Given the description of an element on the screen output the (x, y) to click on. 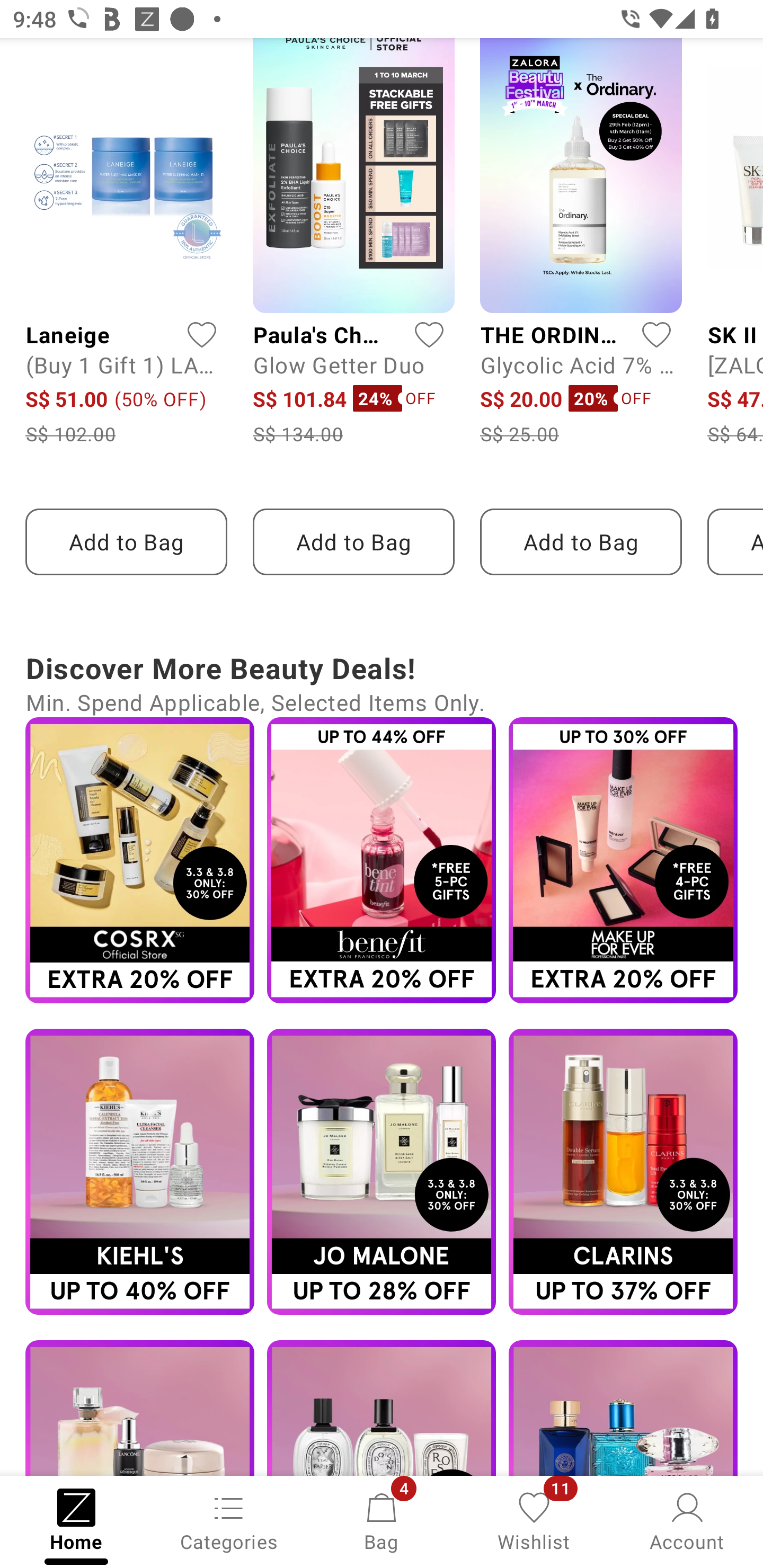
Add to Bag (126, 541)
Add to Bag (353, 541)
Add to Bag (580, 541)
Campaign banner (139, 859)
Campaign banner (381, 859)
Campaign banner (622, 859)
Campaign banner (139, 1171)
Campaign banner (381, 1171)
Campaign banner (622, 1171)
Campaign banner (139, 1407)
Campaign banner (381, 1407)
Campaign banner (622, 1407)
Categories (228, 1519)
Bag, 4 new notifications Bag (381, 1519)
Wishlist, 11 new notifications Wishlist (533, 1519)
Account (686, 1519)
